Given the description of an element on the screen output the (x, y) to click on. 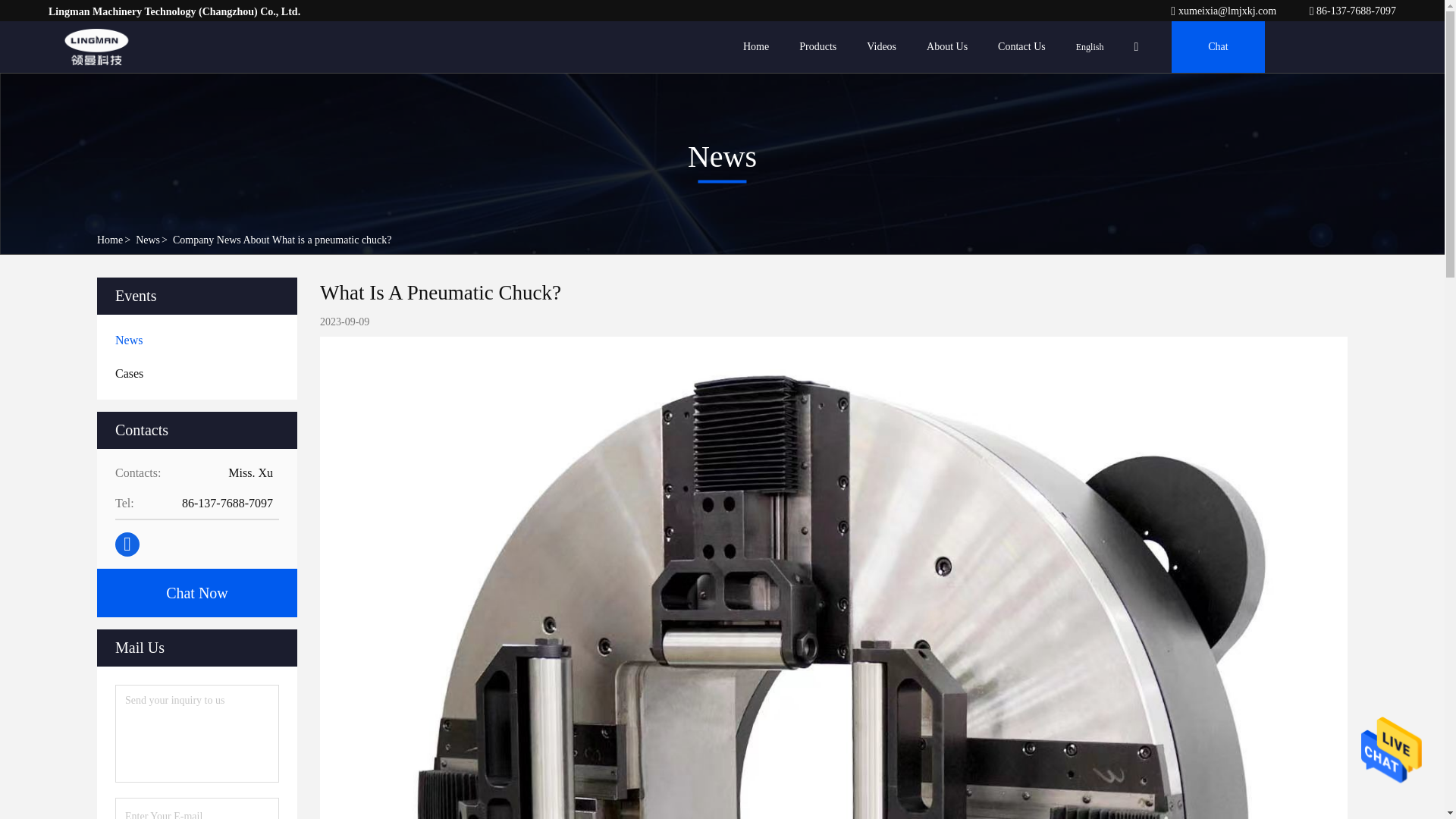
86-137-7688-7097 (1352, 10)
Contact Us (1021, 46)
